Given the description of an element on the screen output the (x, y) to click on. 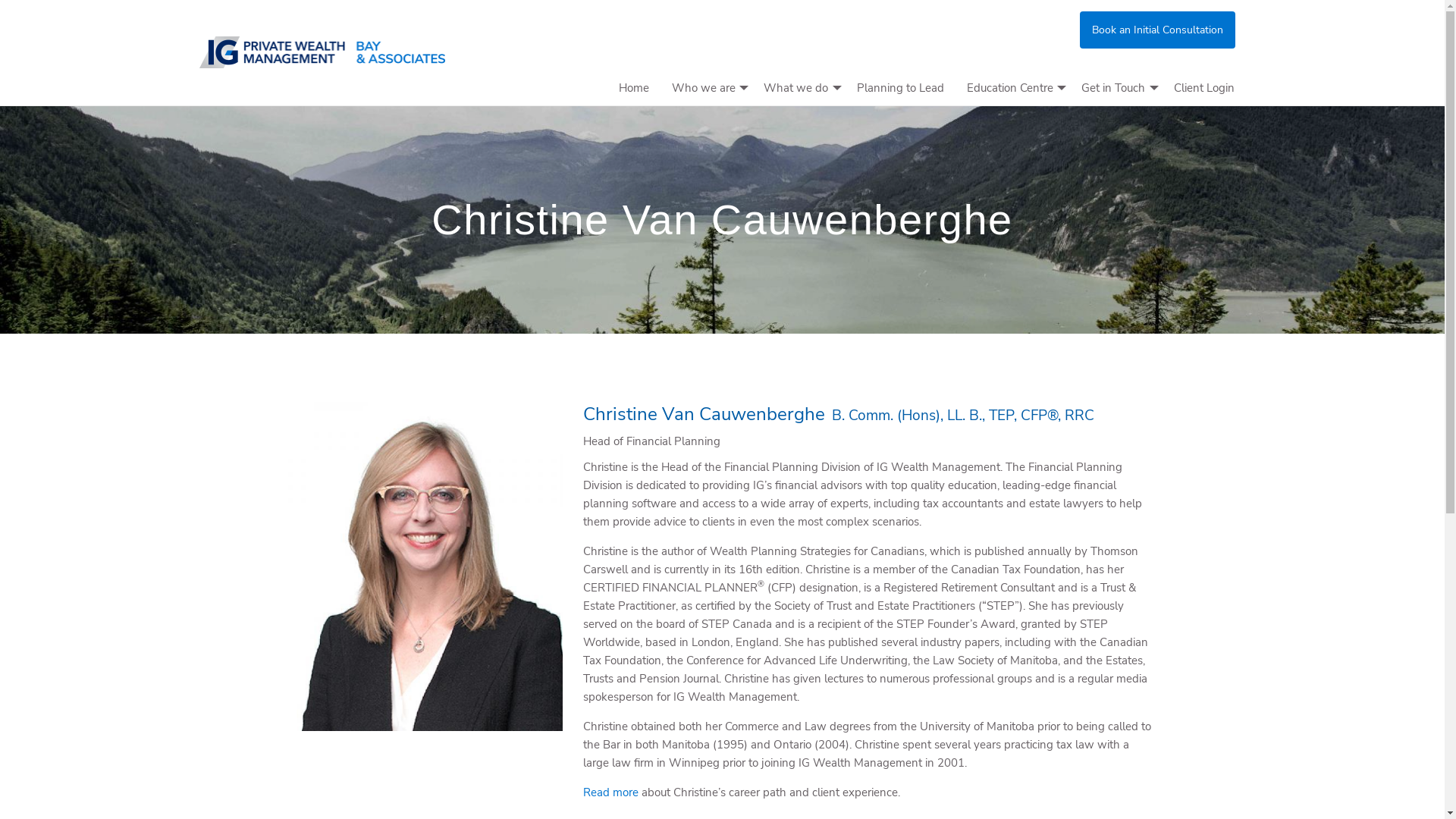
Read more Element type: text (610, 792)
Who we are Element type: text (705, 88)
What we do Element type: text (798, 88)
Get in Touch Element type: text (1116, 88)
Skip to main content Element type: text (0, 0)
Client Login Element type: text (1203, 88)
Book an Initial Consultation Element type: text (1157, 29)
Home Element type: text (632, 88)
Education Centre Element type: text (1012, 88)
Planning to Lead Element type: text (899, 88)
